Given the description of an element on the screen output the (x, y) to click on. 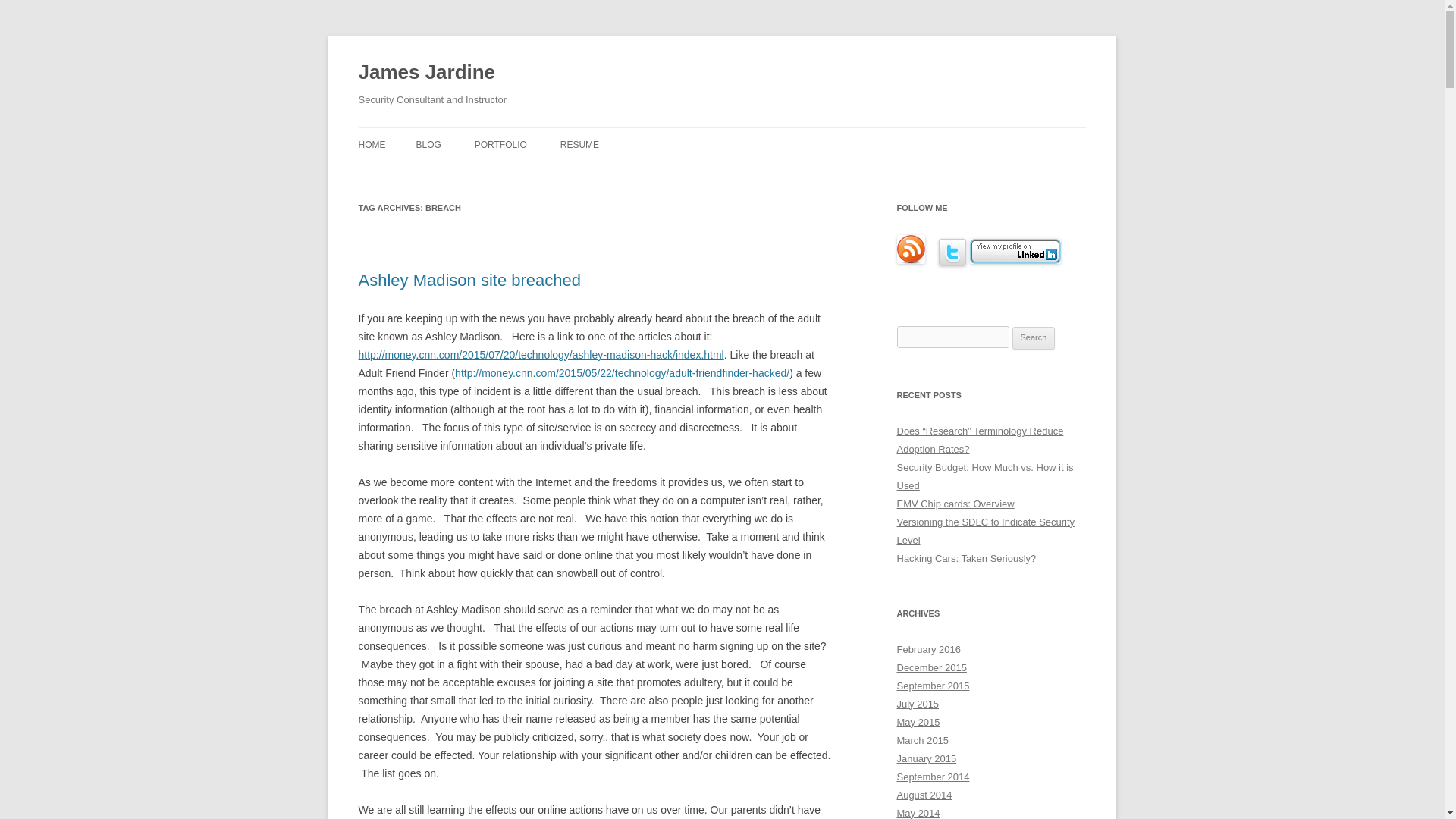
RESUME (579, 144)
PORTFOLIO (500, 144)
ARTICLES (550, 176)
Ashley Madison site breached (469, 280)
James Jardine (426, 72)
Search (1033, 337)
James Jardine (426, 72)
